Given the description of an element on the screen output the (x, y) to click on. 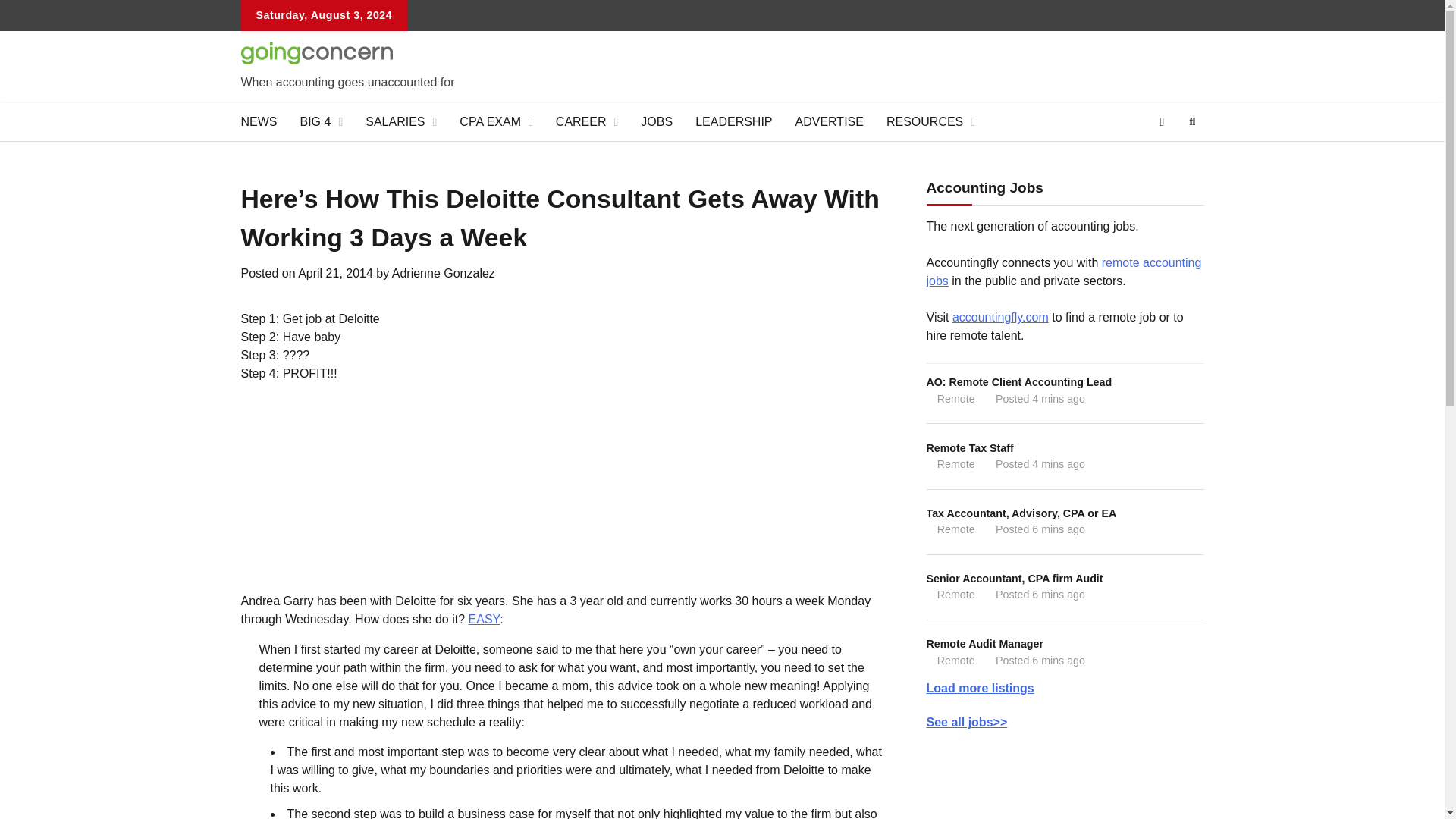
View Random Post (1162, 121)
BIG 4 (320, 121)
SALARIES (400, 121)
Search (1164, 157)
EASY (484, 618)
JOBS (656, 121)
CPA EXAM (495, 121)
ADVERTISE (829, 121)
NEWS (258, 121)
Adrienne Gonzalez (443, 273)
